Given the description of an element on the screen output the (x, y) to click on. 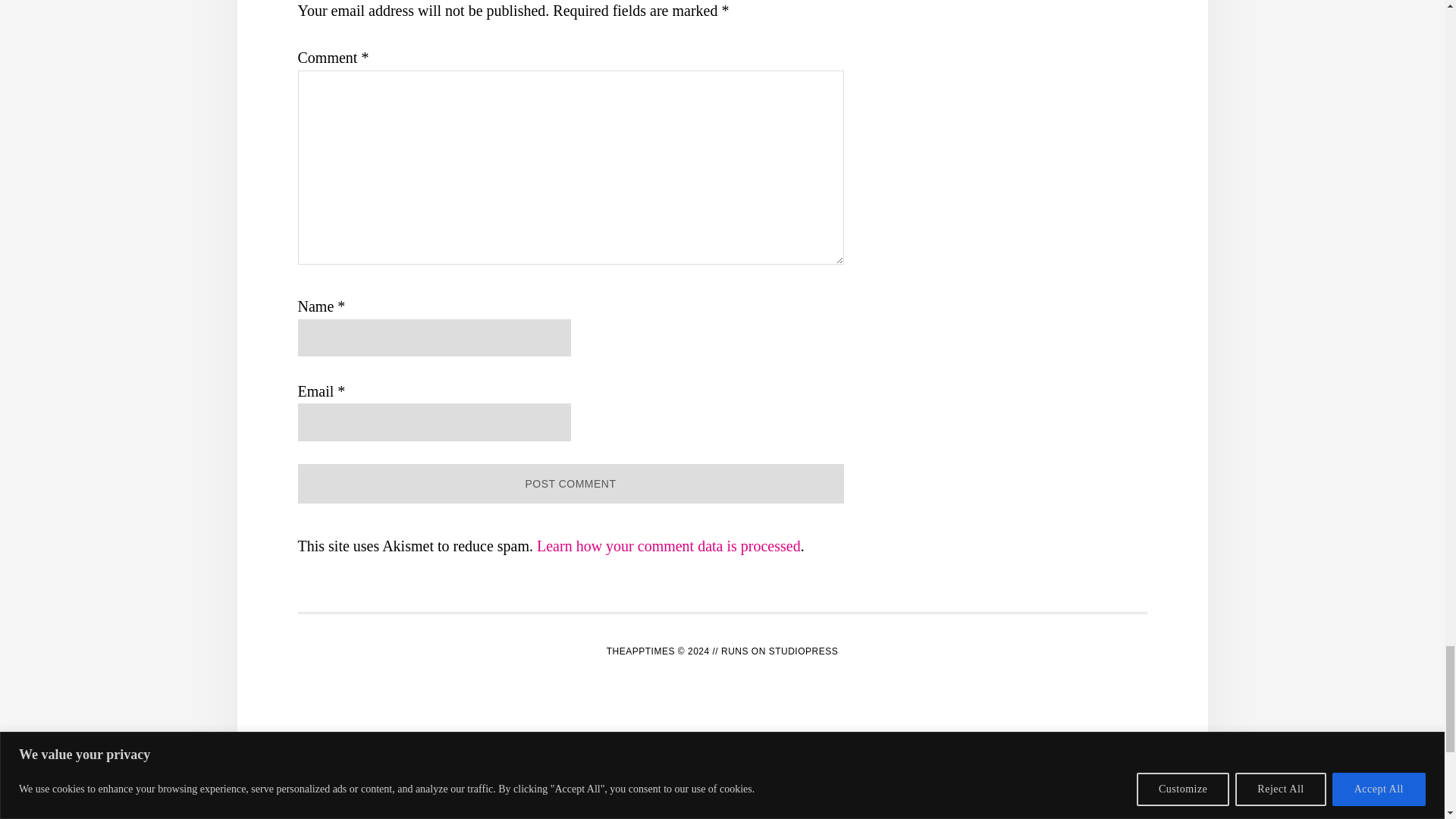
Post Comment (570, 484)
